Given the description of an element on the screen output the (x, y) to click on. 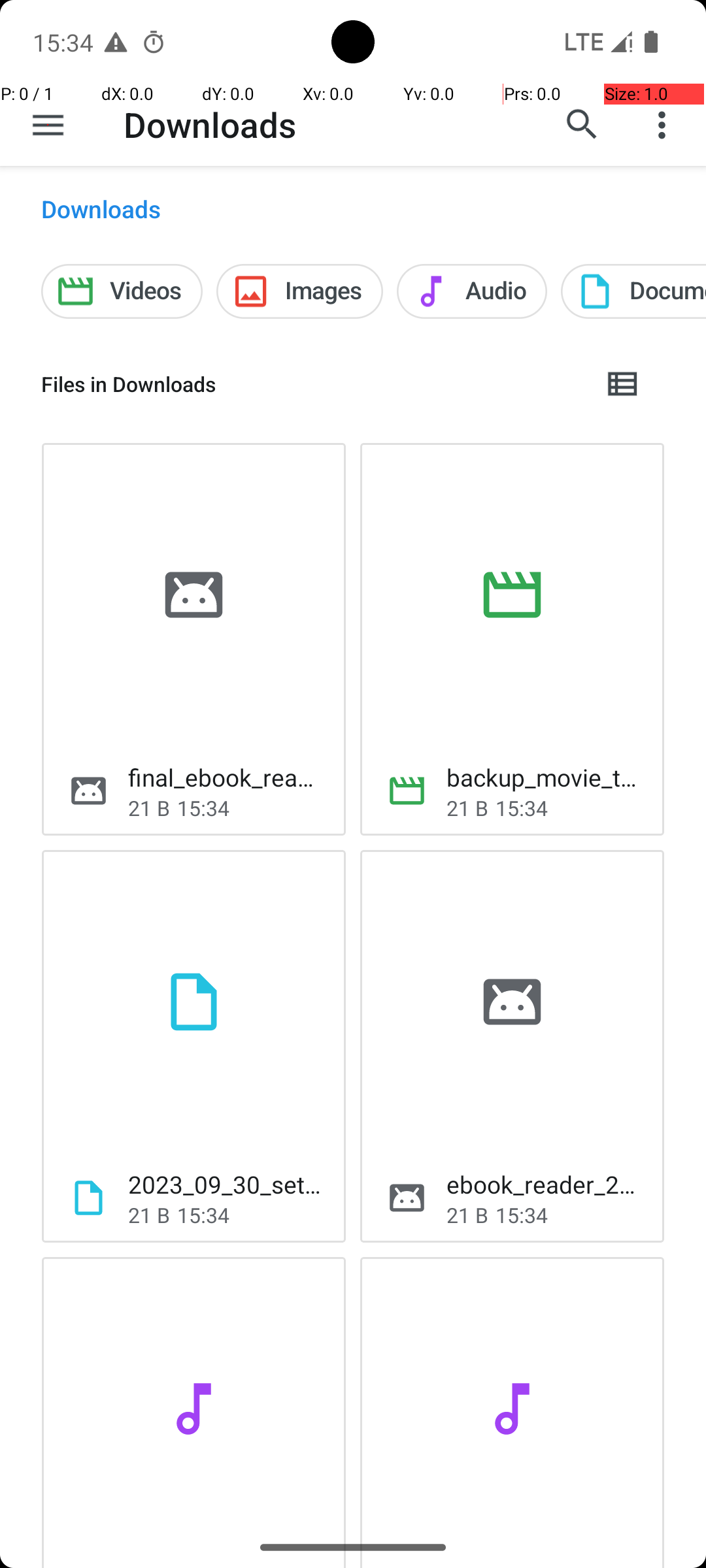
final_ebook_reader.apk Element type: android.widget.TextView (226, 776)
21 B Element type: android.widget.TextView (148, 807)
backup_movie_trailer.mp4 Element type: android.widget.TextView (544, 776)
2023_09_30_setup_exe.exe Element type: android.widget.TextView (226, 1183)
ebook_reader_2023_07_15.apk Element type: android.widget.TextView (544, 1183)
